Given the description of an element on the screen output the (x, y) to click on. 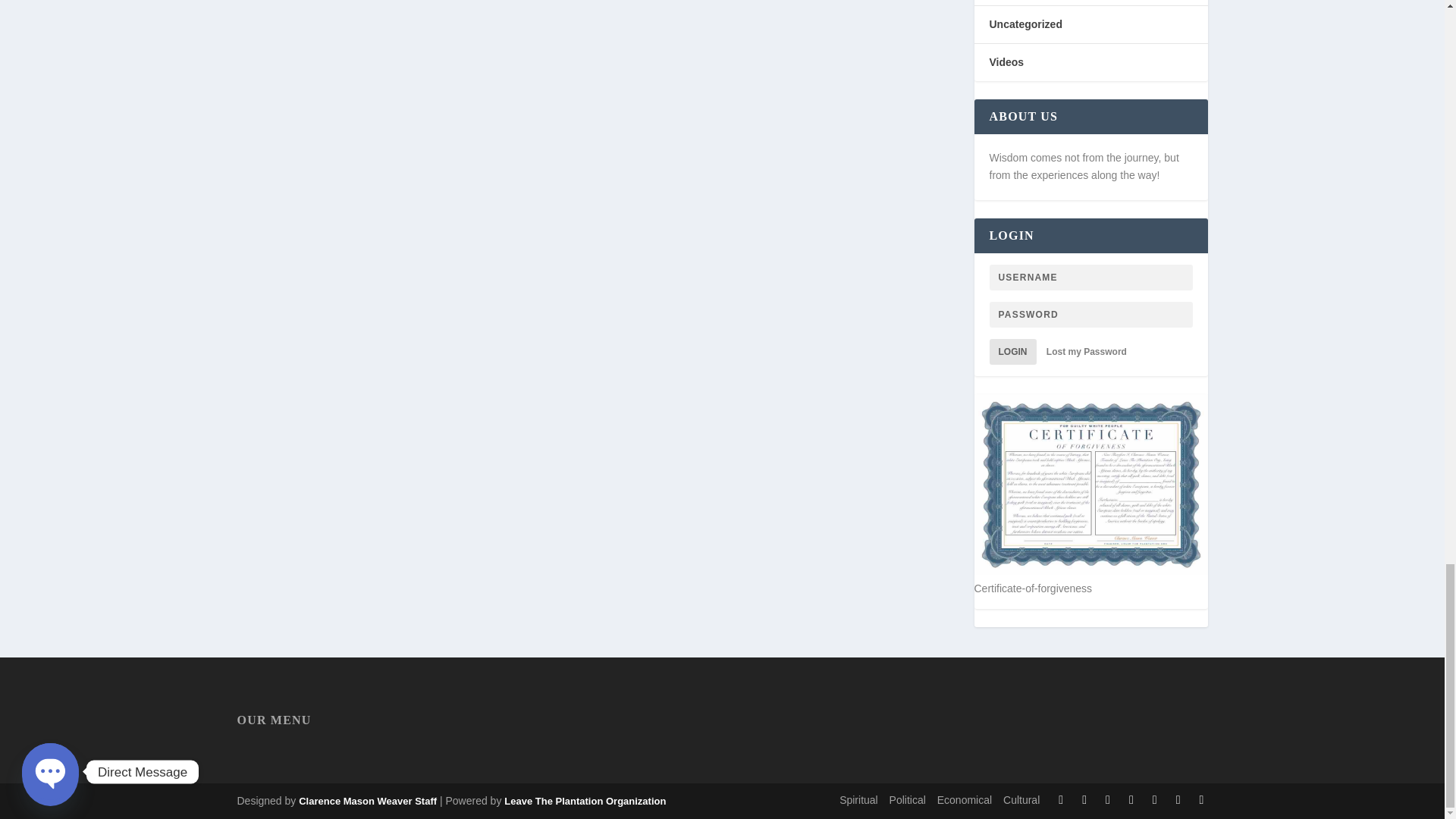
Leave the Plantation Organization (367, 800)
